Given the description of an element on the screen output the (x, y) to click on. 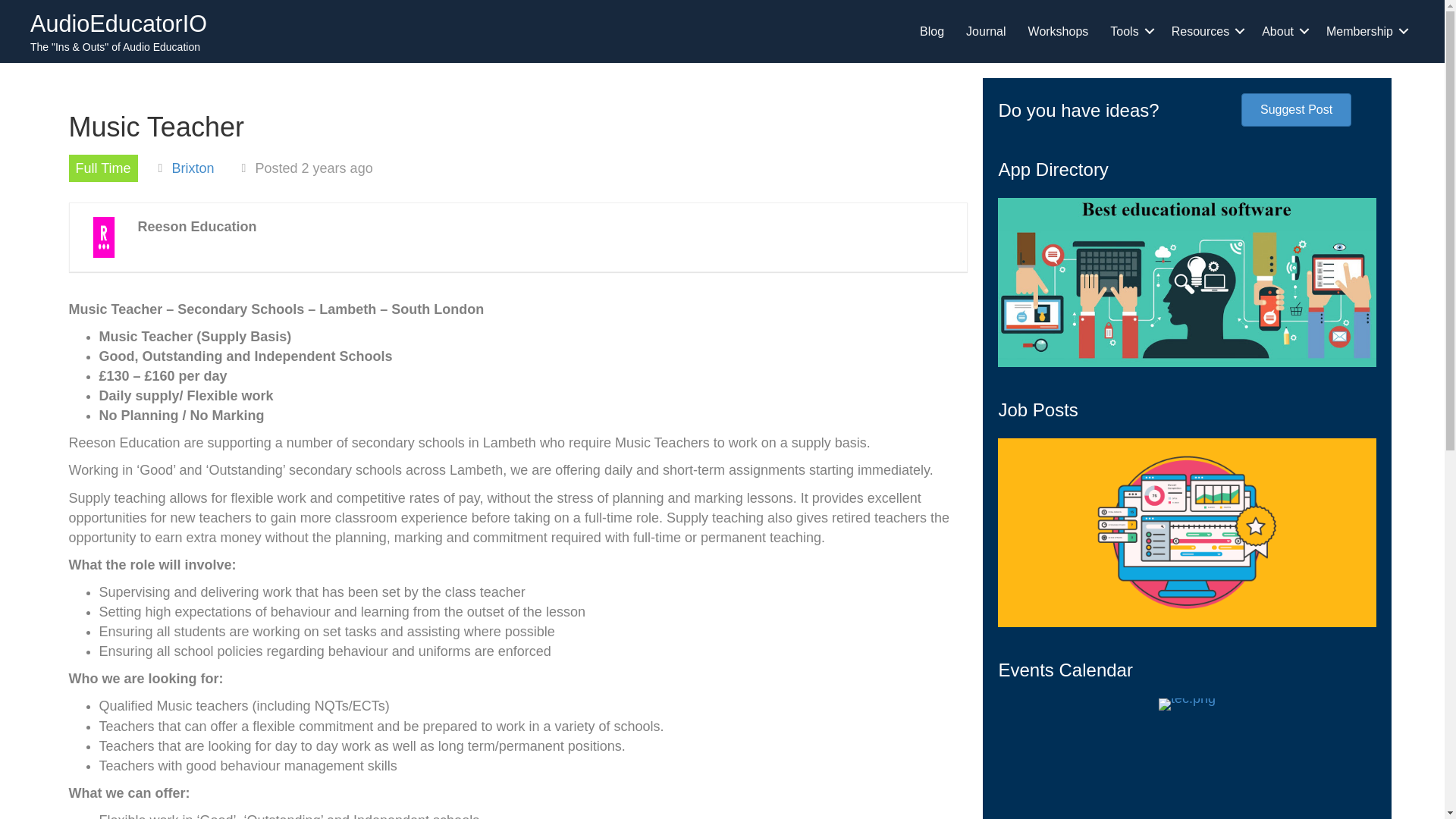
AudioEducatorIO (118, 23)
Membership (1364, 31)
About (1282, 31)
AudioEducatorIO (118, 23)
Suggest Post (1296, 109)
Resources (1205, 31)
Best-educational-software.jpg (1186, 282)
Best-PM-Software.png (1186, 532)
Blog (931, 31)
Tools (1128, 31)
Journal (985, 31)
tec.png (1186, 704)
Workshops (1058, 31)
Brixton (192, 168)
